Given the description of an element on the screen output the (x, y) to click on. 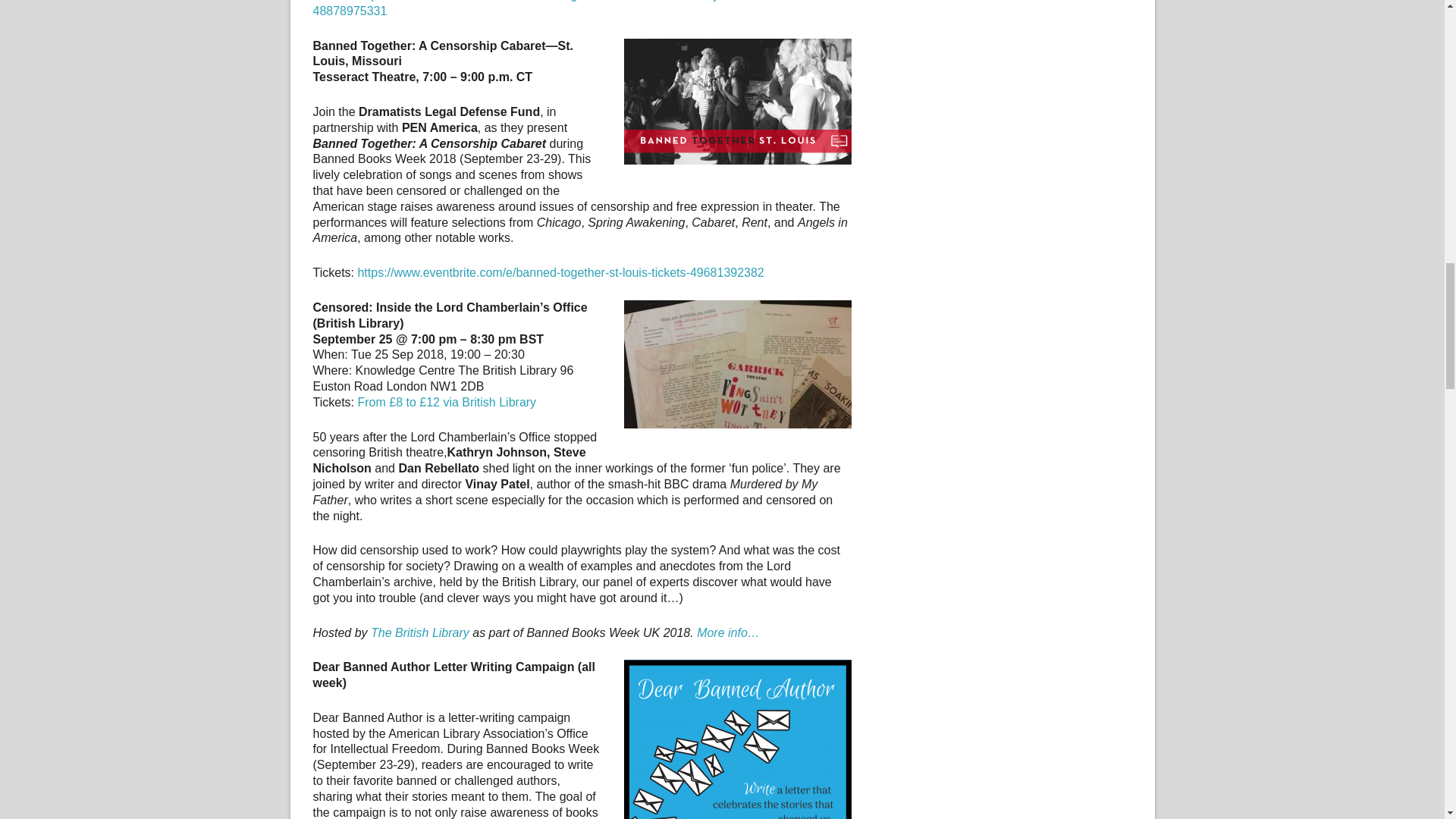
The British Library (419, 632)
